Given the description of an element on the screen output the (x, y) to click on. 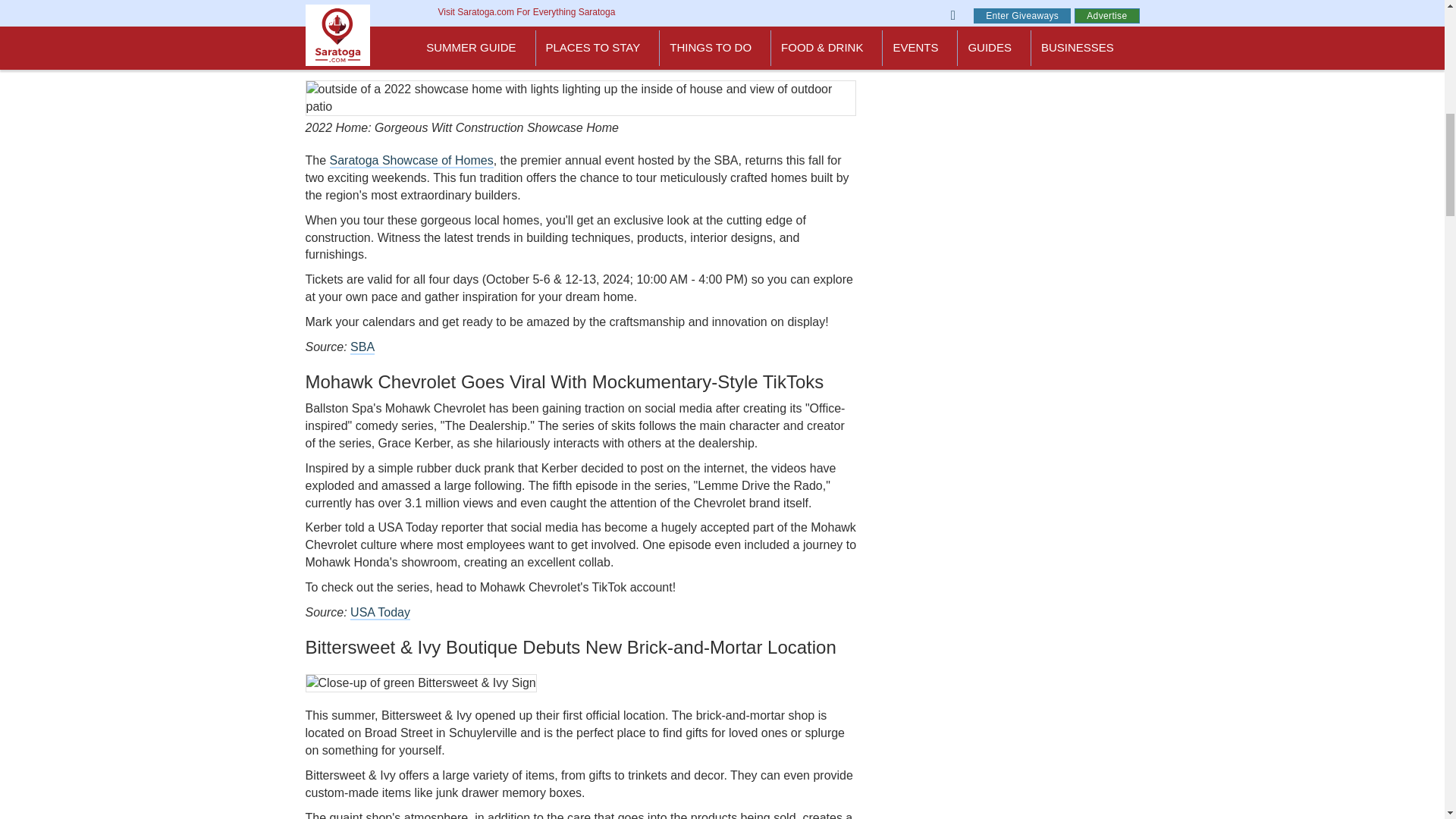
Opens in new window (411, 160)
Opens in new window (380, 612)
Opens in new window (362, 347)
